Given the description of an element on the screen output the (x, y) to click on. 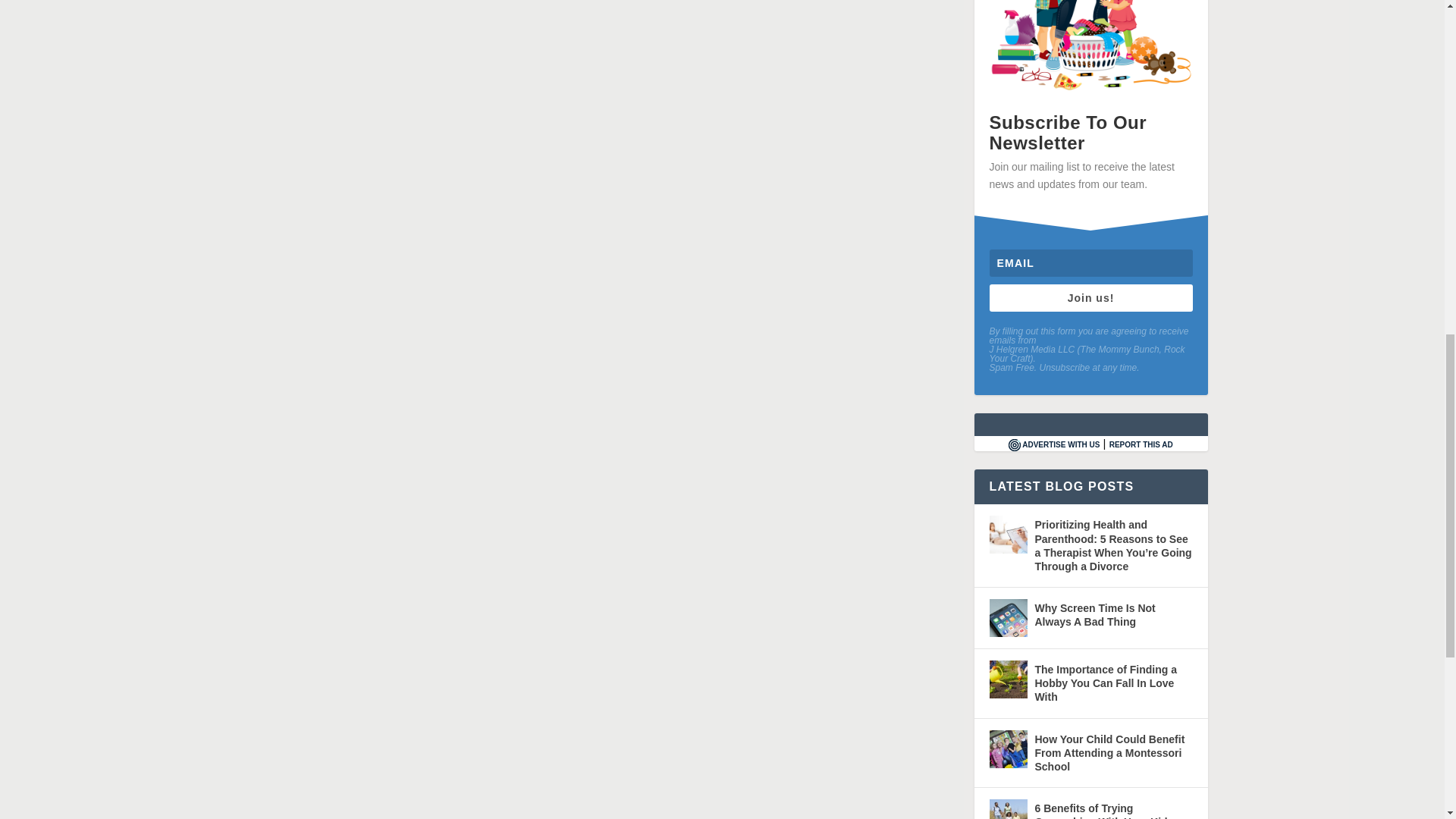
The Importance of Finding a Hobby You Can Fall In Love With (1007, 679)
6 Benefits of Trying Geocaching With Your Kids (1007, 809)
Why Screen Time Is Not Always A Bad Thing (1007, 617)
